Given the description of an element on the screen output the (x, y) to click on. 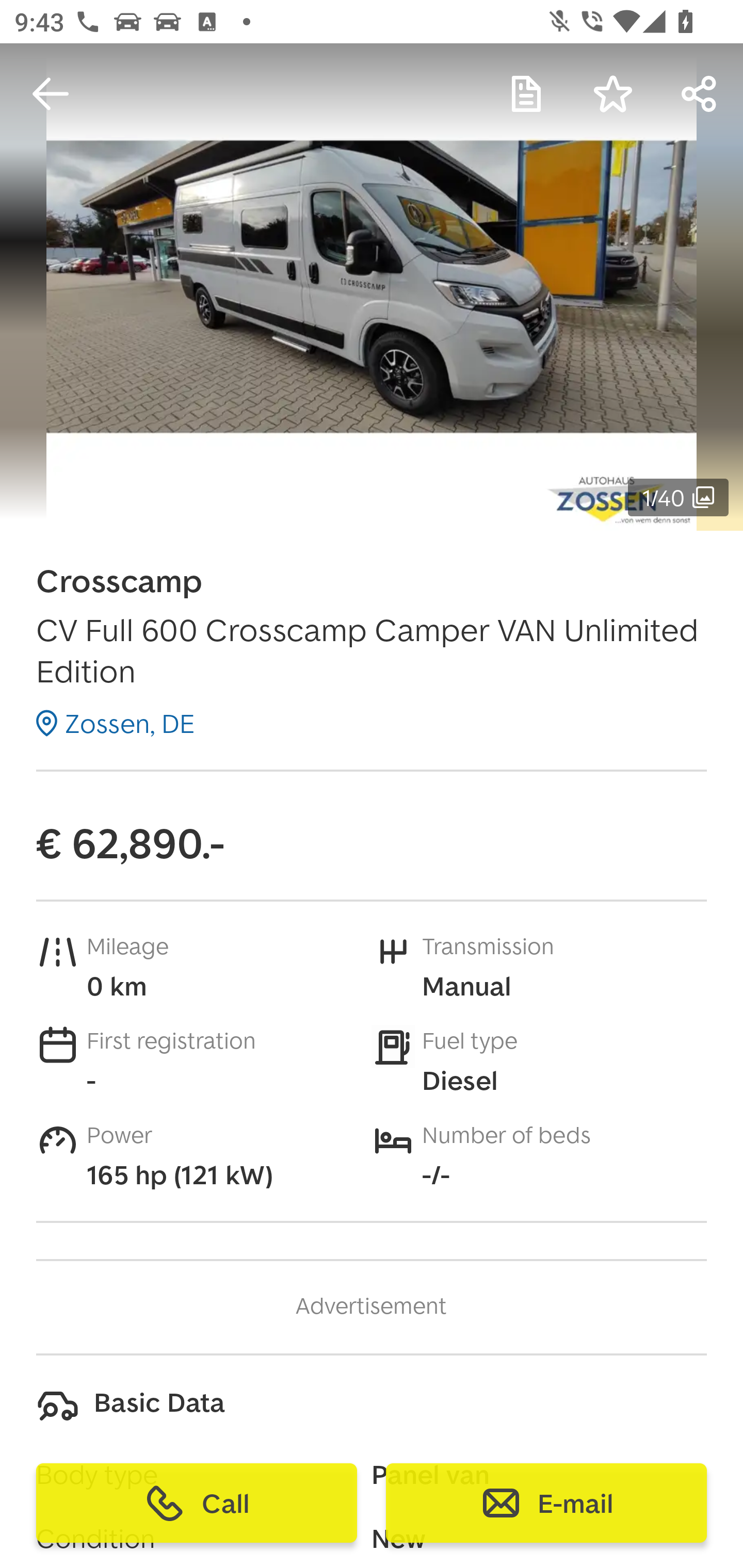
Navigate up (50, 93)
My Notes (525, 93)
Save (612, 93)
Forward (699, 93)
Zossen, DE (115, 722)
Call (196, 1502)
E-mail (545, 1502)
